Given the description of an element on the screen output the (x, y) to click on. 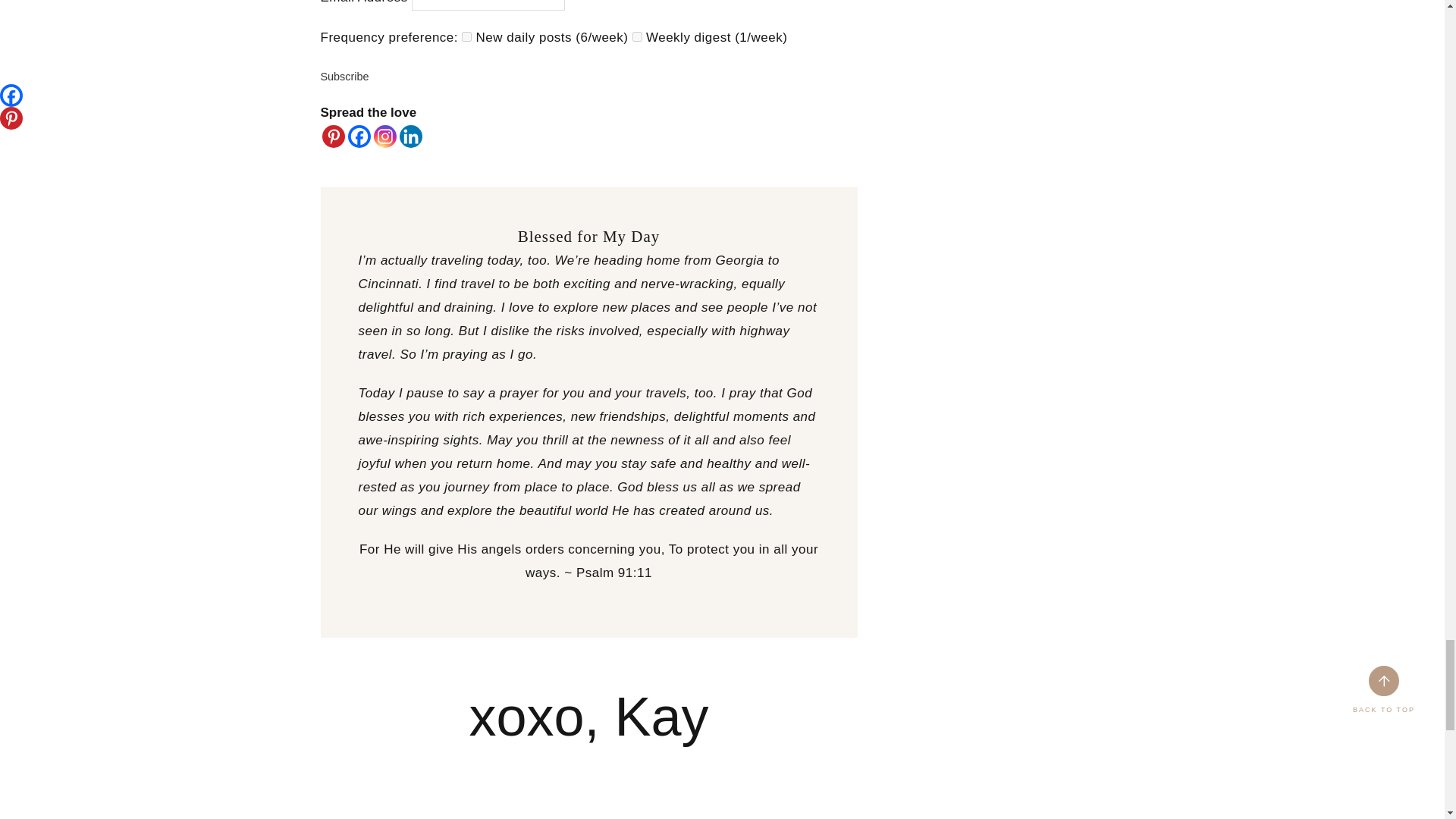
b3927d6d93 (466, 36)
Facebook (358, 136)
Instagram (384, 136)
Subscribe (344, 76)
796a19797e (636, 36)
Linkedin (410, 136)
Pinterest (332, 136)
